Given the description of an element on the screen output the (x, y) to click on. 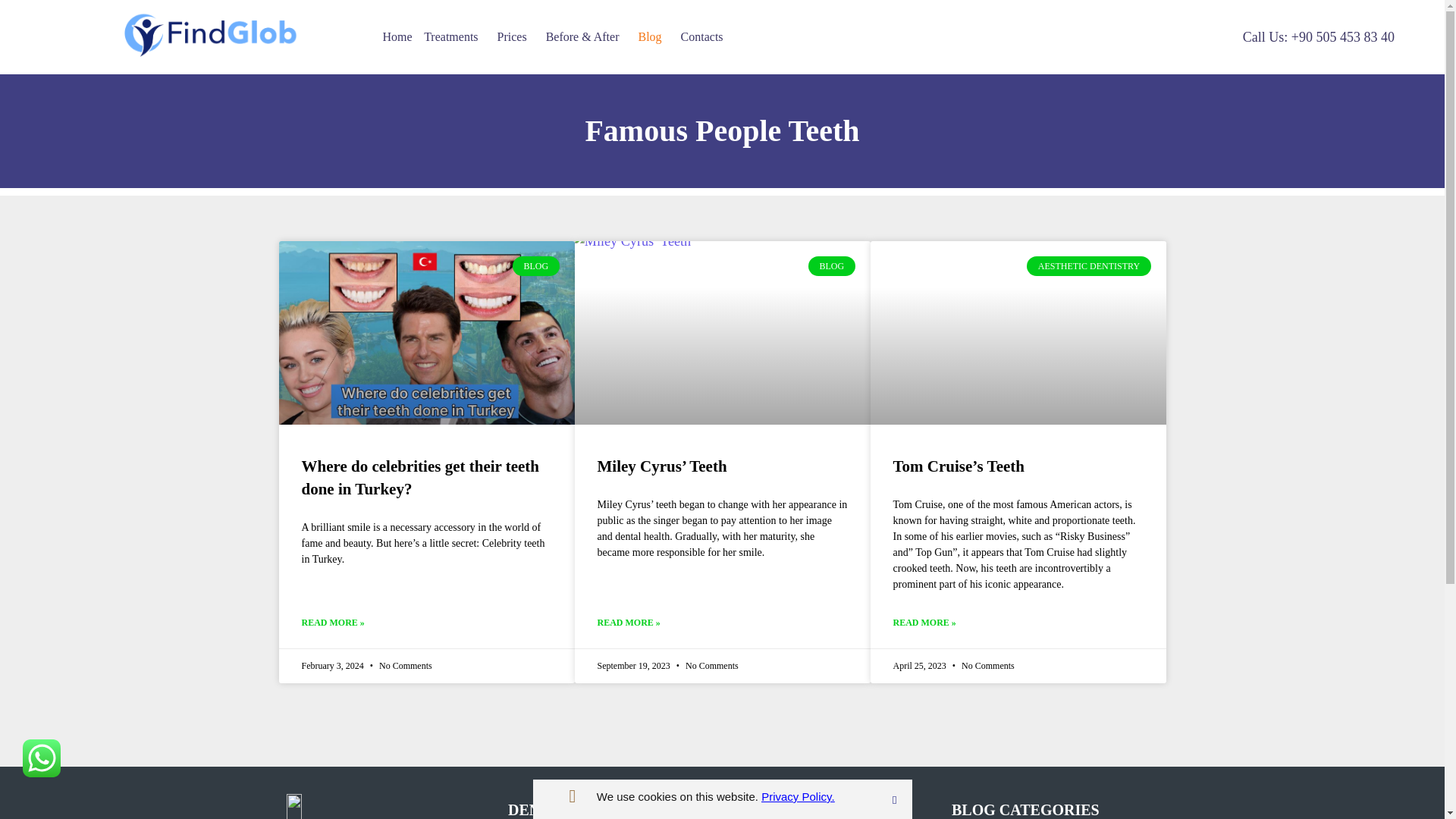
pixeldigital-04 (373, 806)
pixeldigital-01 (209, 36)
Tom Cruise (1015, 330)
Where do celebrities get their teeth done in Turkey (423, 332)
Treatments (453, 36)
